Given the description of an element on the screen output the (x, y) to click on. 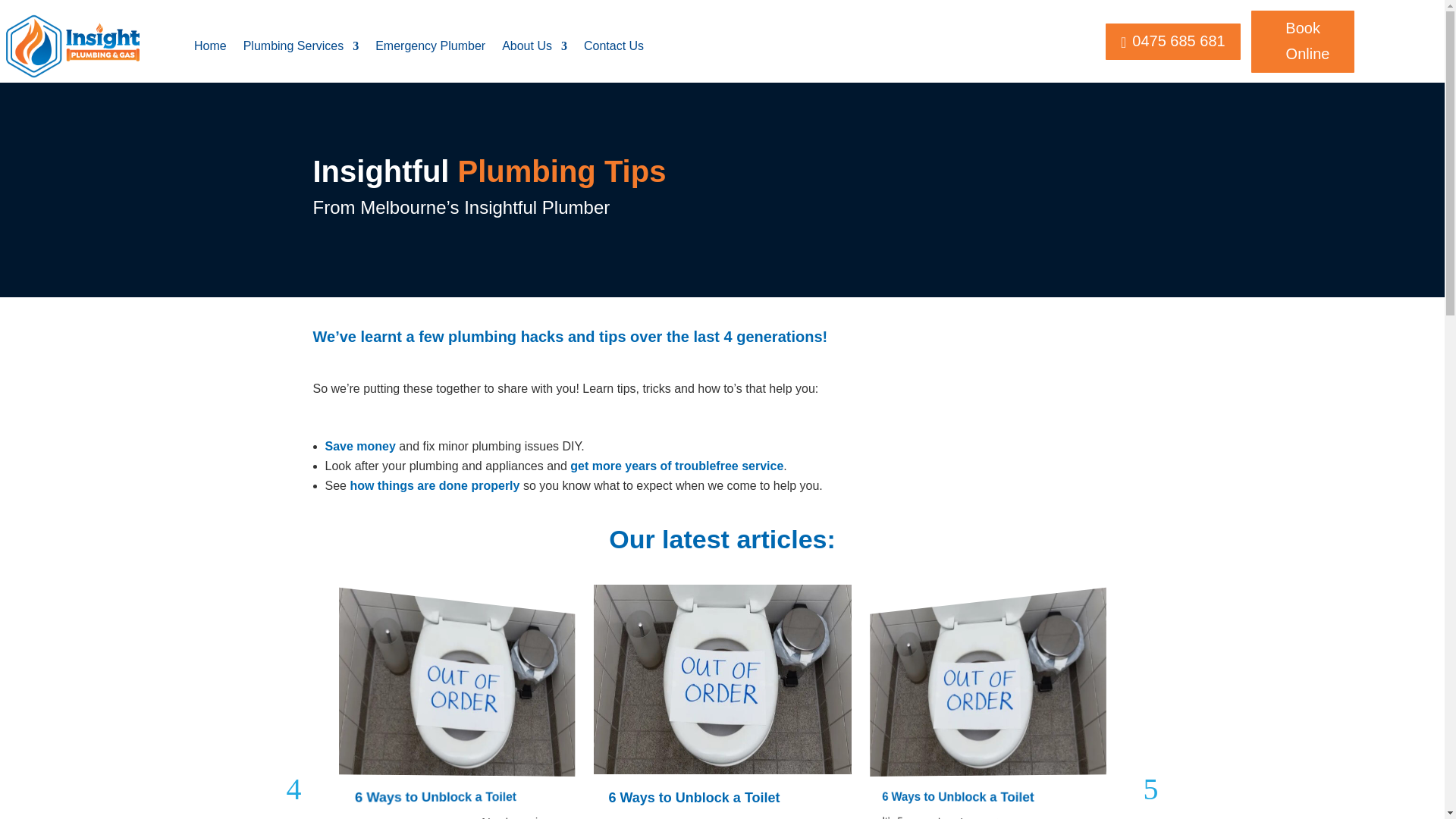
6 Ways to Unblock a Toilet (693, 797)
Book Online (1302, 41)
Plumbing Services (301, 46)
0475 685 681 (1172, 41)
6 Ways to Unblock a Toilet (439, 797)
6 Ways to Unblock a Toilet (693, 797)
6 Ways to Unblock a Toilet (967, 797)
6 Ways to Unblock a Toilet (439, 797)
6 Ways to Unblock a Toilet (967, 797)
About Us (534, 46)
